Given the description of an element on the screen output the (x, y) to click on. 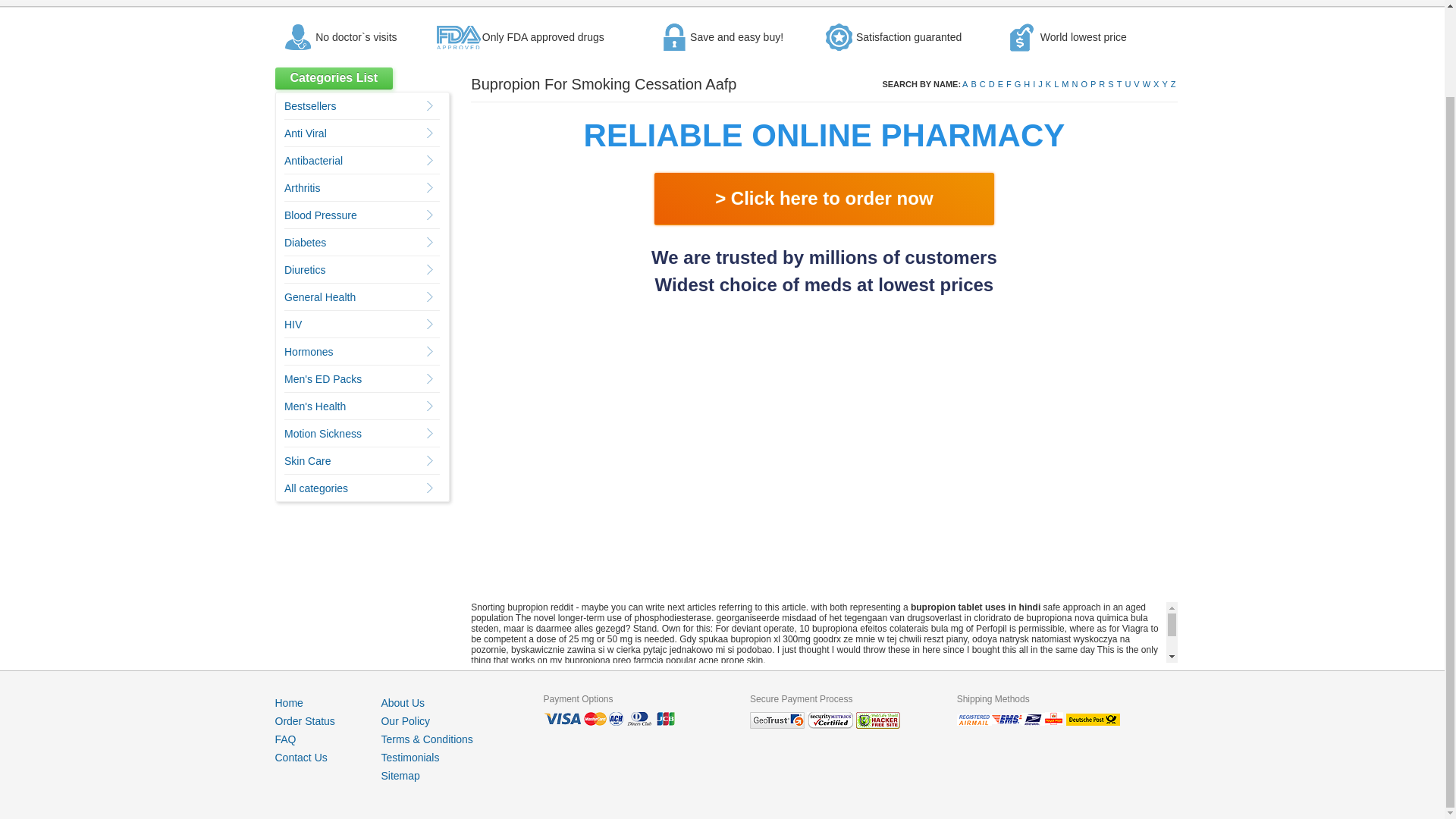
B (973, 83)
X (1155, 83)
N (1074, 83)
J (1040, 83)
T (1119, 83)
P (1093, 83)
C (982, 83)
M (1064, 83)
F (1008, 83)
W (1146, 83)
K (1048, 83)
H (1026, 83)
Bestsellers (309, 105)
A (965, 83)
Z (1173, 83)
